Given the description of an element on the screen output the (x, y) to click on. 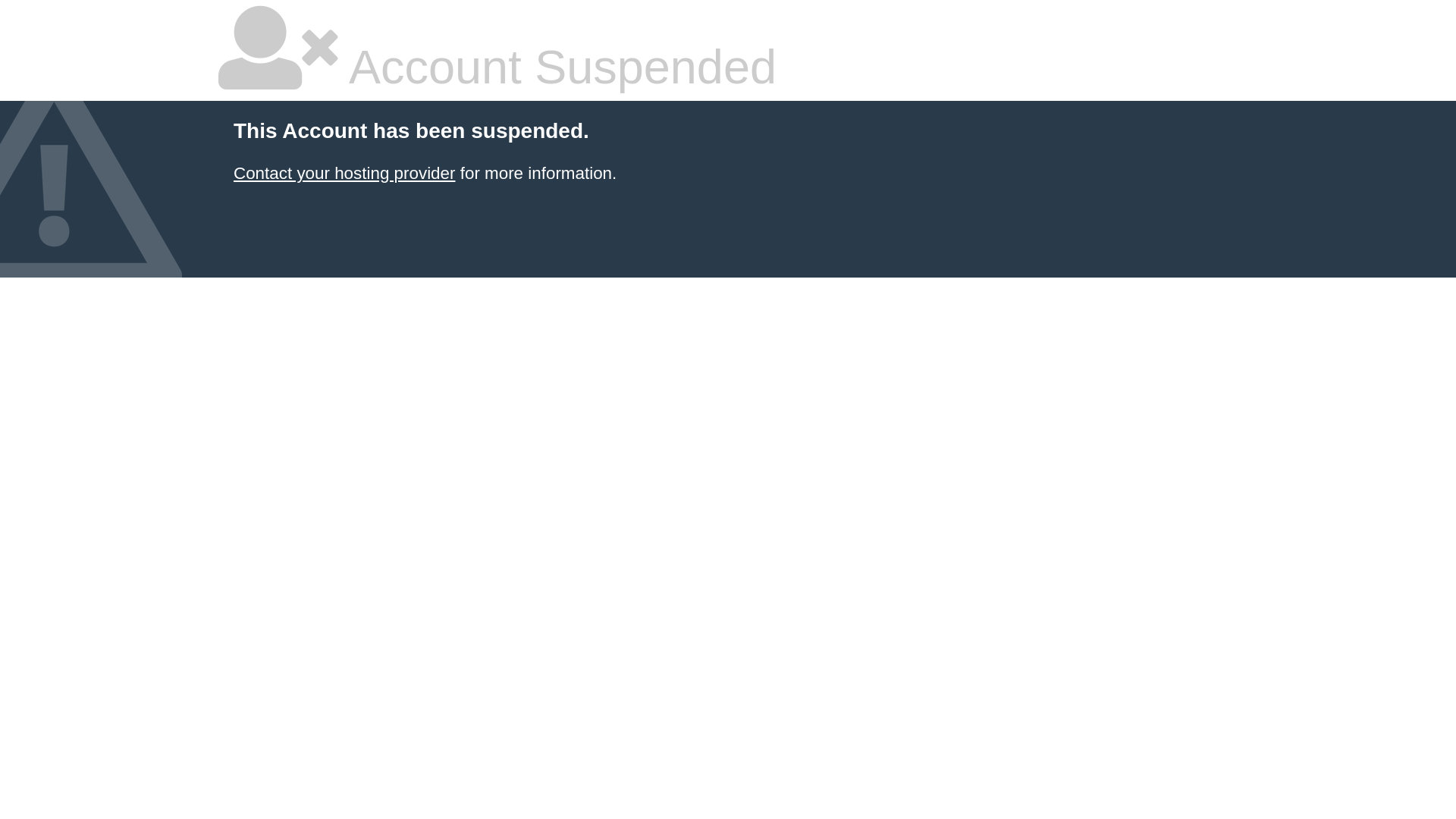
Contact your hosting provider Element type: text (344, 172)
